Given the description of an element on the screen output the (x, y) to click on. 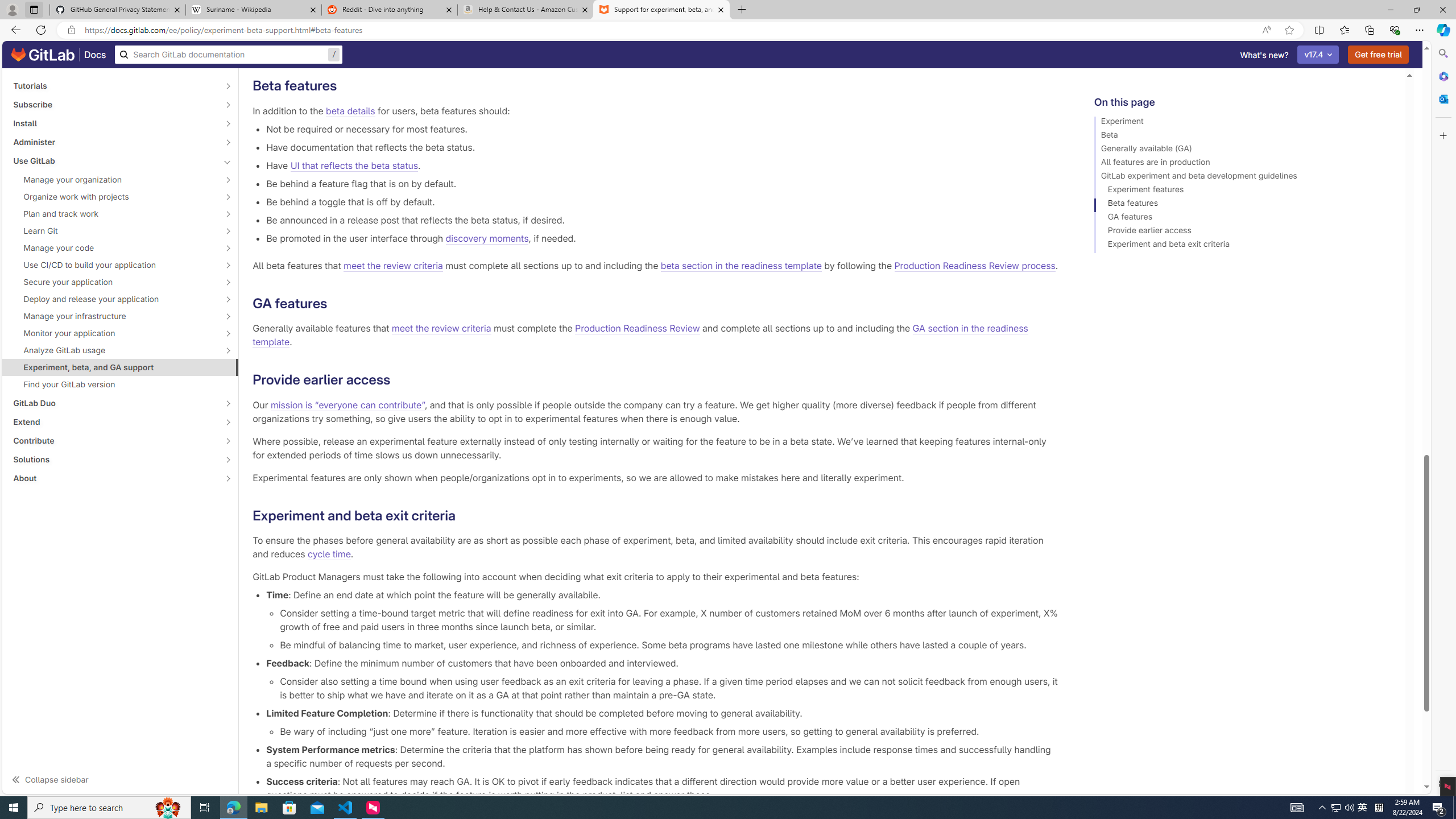
Help & Contact Us - Amazon Customer Service - Sleeping (525, 9)
beta section in the readiness template (741, 265)
Experiment (1244, 123)
Permalink (464, 515)
Tutorials (113, 85)
Get free trial (1378, 54)
GitLab documentation home (42, 54)
Install (113, 122)
